Given the description of an element on the screen output the (x, y) to click on. 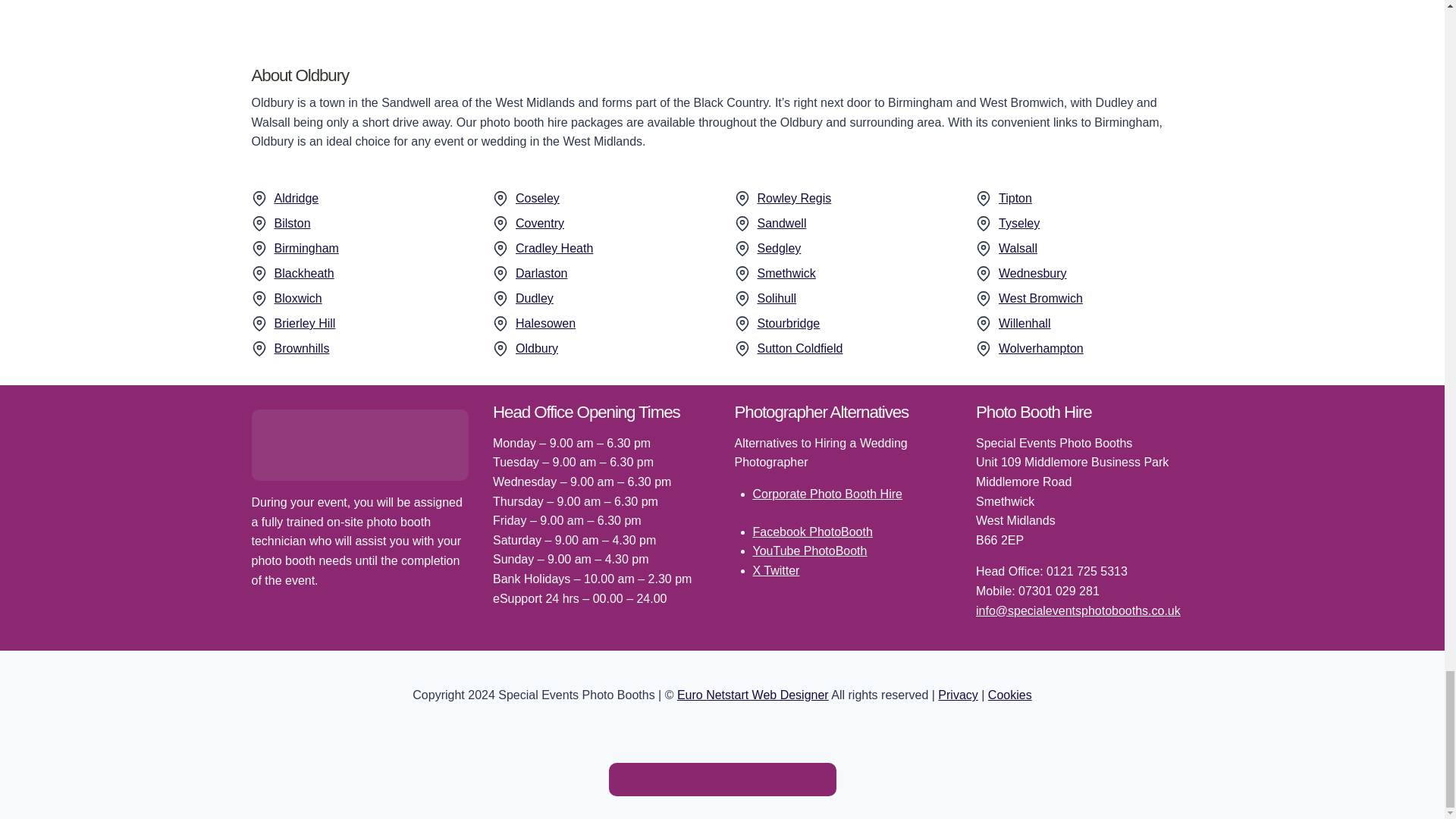
Privacy Policy (956, 694)
Cookies Policy (1010, 694)
